Given the description of an element on the screen output the (x, y) to click on. 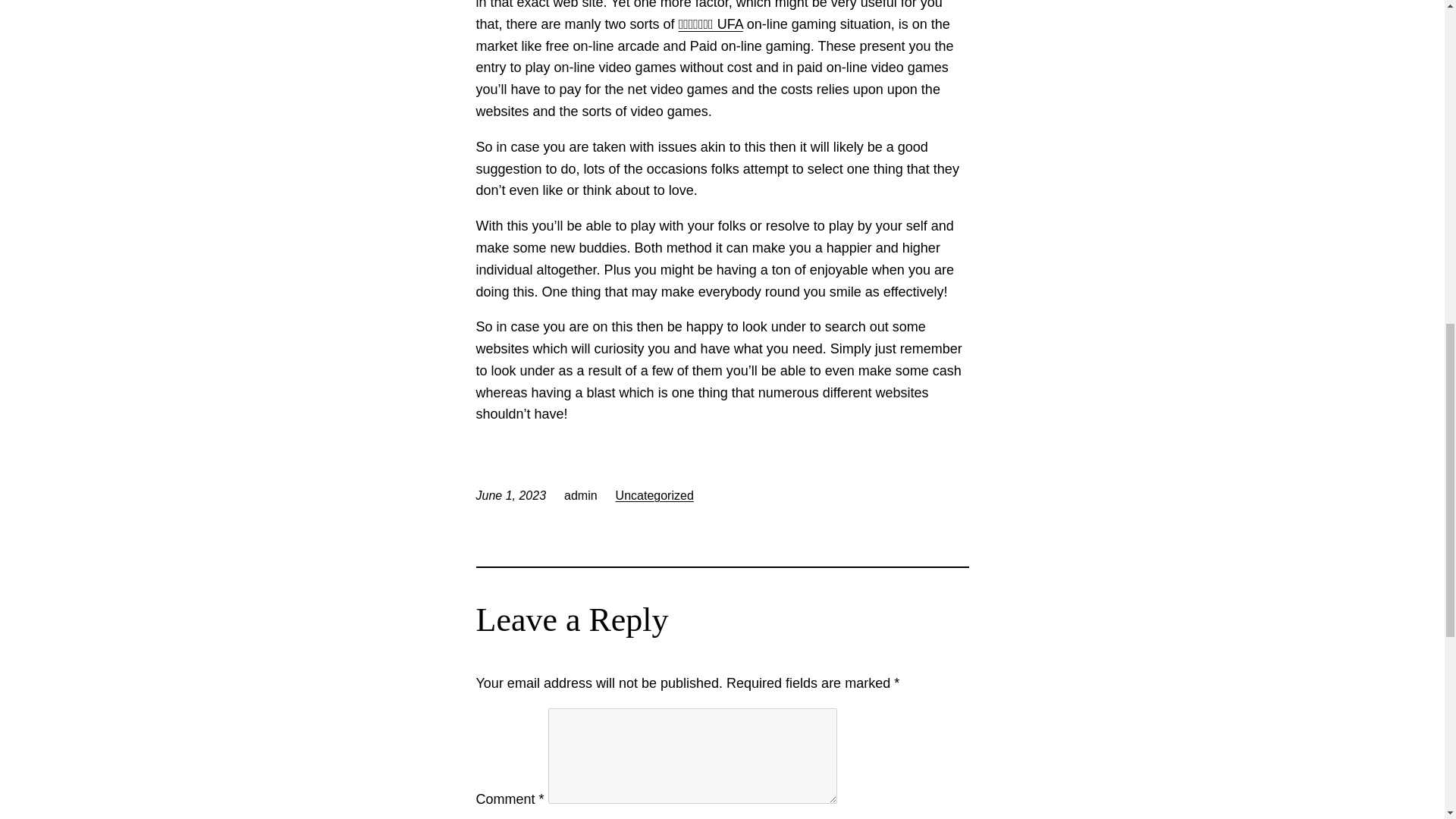
Uncategorized (654, 495)
